Given the description of an element on the screen output the (x, y) to click on. 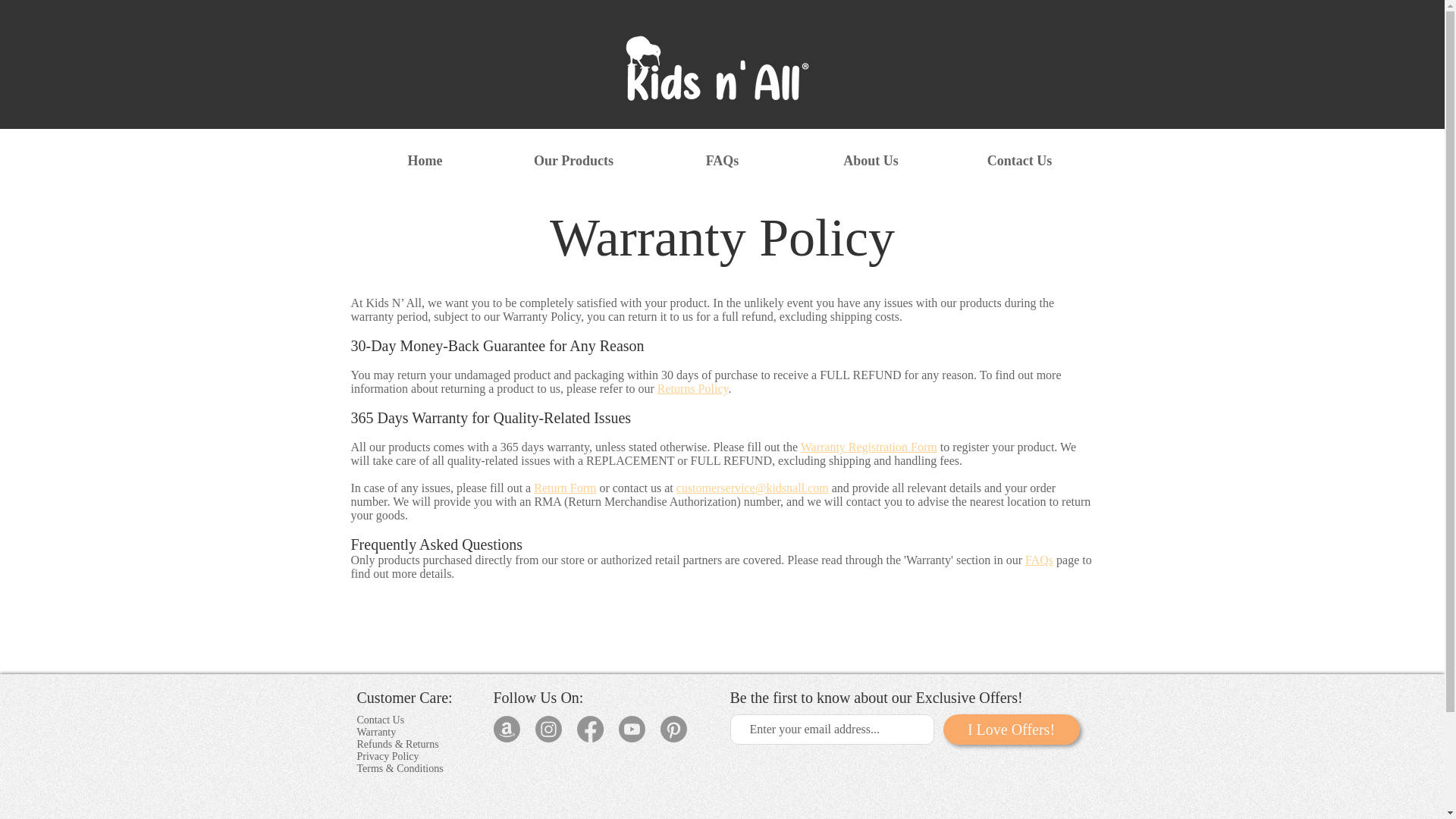
Contact Us (380, 719)
About Us (870, 160)
FAQs (721, 160)
FAQs (1038, 559)
Privacy Policy (387, 756)
Warranty (376, 731)
Warranty Registration Form (868, 446)
Returns Policy (693, 388)
Contact Us (1018, 160)
Return Form (564, 487)
